Given the description of an element on the screen output the (x, y) to click on. 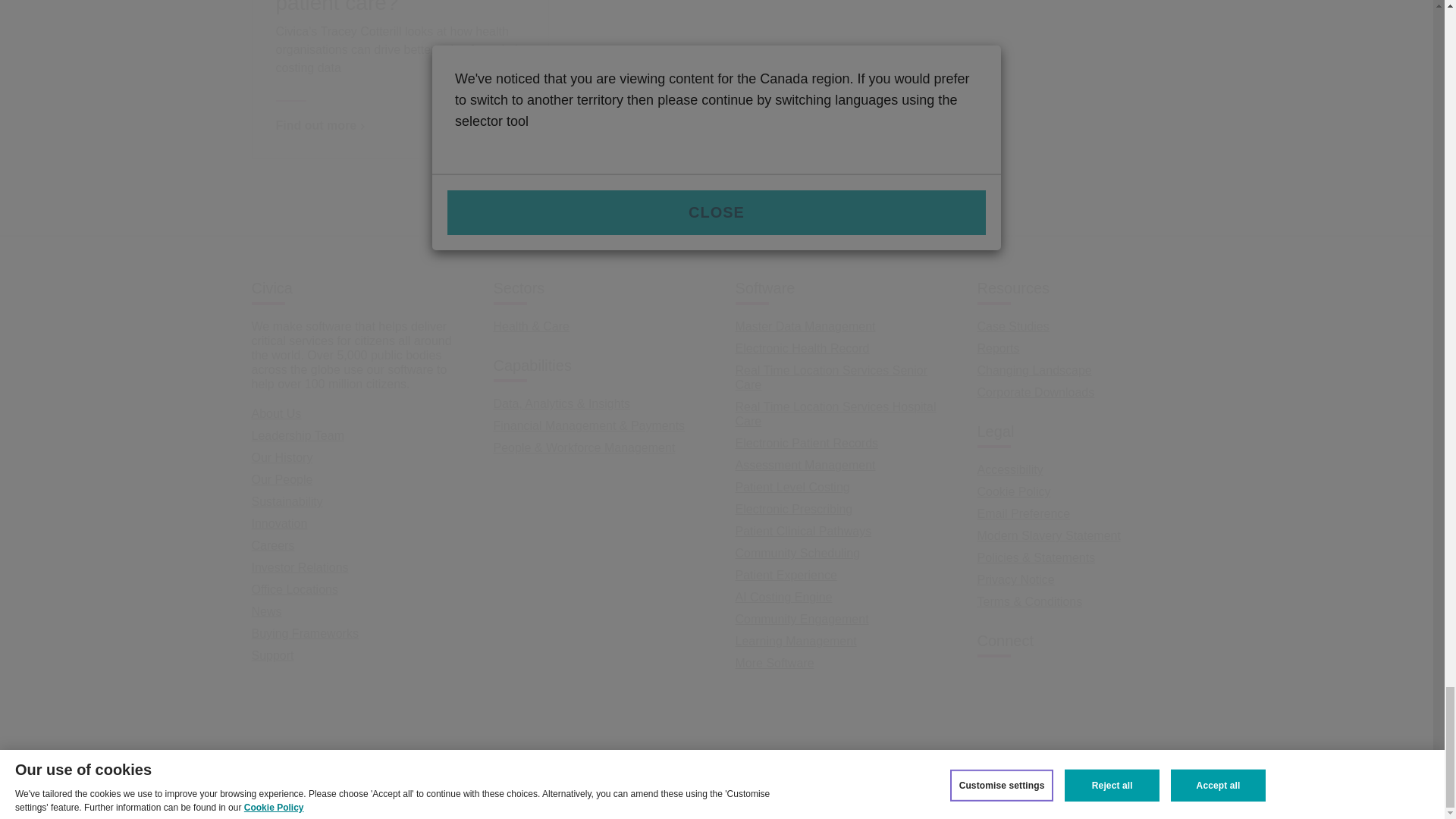
Real Time Location Services Senior Care (831, 377)
Careers (273, 545)
News (266, 611)
Support (272, 655)
Our People (282, 479)
About Us (276, 413)
Master Data Management (805, 326)
Our History (282, 457)
Electronic Health Record (802, 348)
Sustainability (287, 501)
Office Locations (294, 589)
Buying Frameworks (304, 633)
Real Time Location Services Hospital Care (835, 413)
Leadership Team (297, 435)
Investor Relations (300, 567)
